Given the description of an element on the screen output the (x, y) to click on. 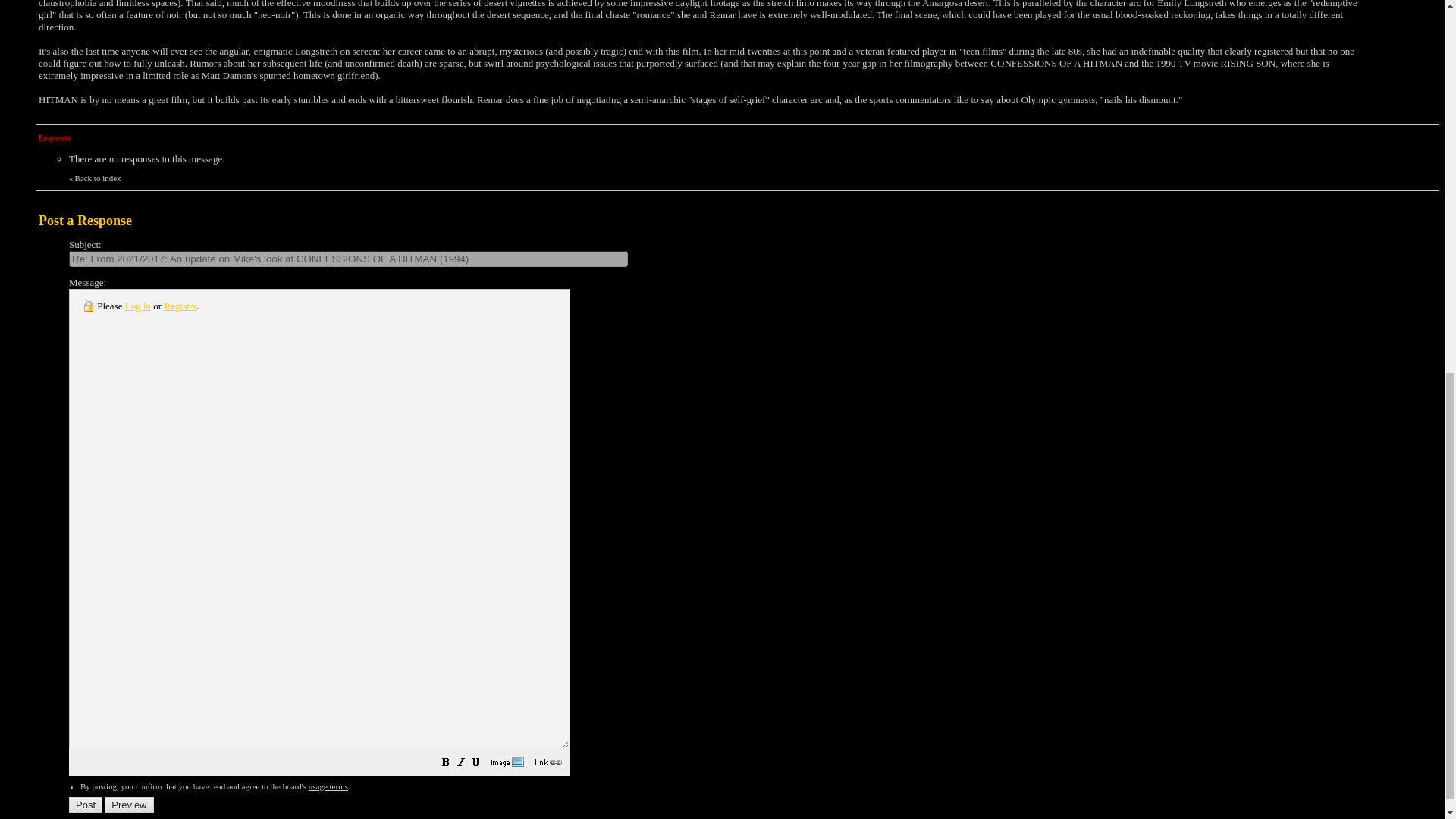
Log in (138, 306)
Preview (128, 804)
Register (179, 306)
Back to index (97, 178)
Responses (54, 136)
usage terms (327, 786)
Post (84, 804)
Preview (128, 804)
Post (84, 804)
